Given the description of an element on the screen output the (x, y) to click on. 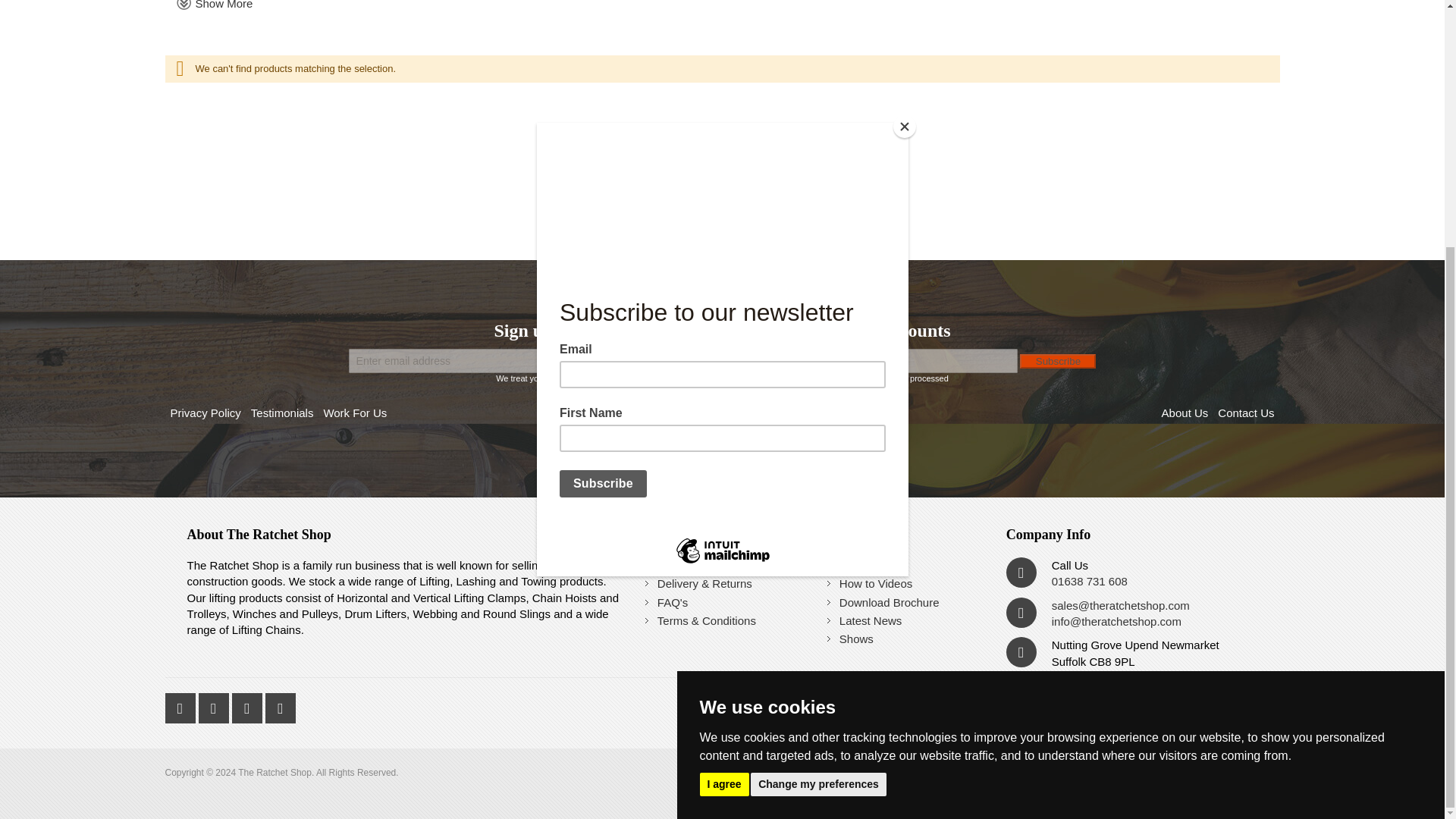
Subscribe (1058, 360)
Follow The Ratchet Shop on Twitter (181, 704)
Join us on Facebook (214, 704)
Change my preferences (818, 440)
Instagram (247, 704)
I agree (723, 440)
